Given the description of an element on the screen output the (x, y) to click on. 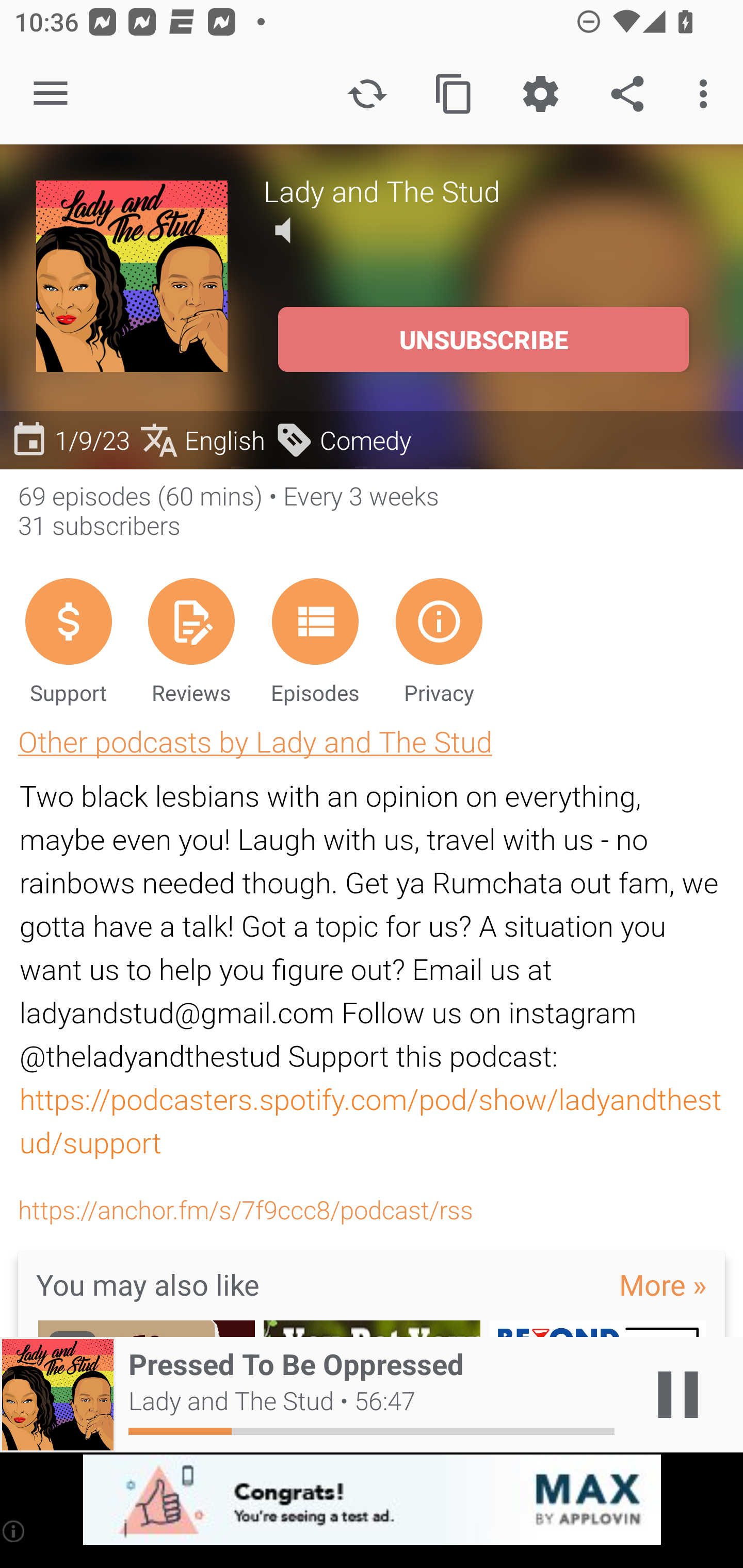
Open navigation sidebar (50, 93)
Refresh podcast description (366, 93)
Copy feed url to clipboard (453, 93)
Custom Settings (540, 93)
Share the podcast (626, 93)
More options (706, 93)
Lady and The Stud (484, 190)
UNSUBSCRIBE (482, 339)
Comedy (342, 439)
Support (68, 640)
Reviews (191, 640)
Episodes (314, 640)
Privacy (438, 640)
Other podcasts by Lady and The Stud (254, 740)
More » (662, 1284)
Play / Pause (677, 1394)
app-monetization (371, 1500)
(i) (14, 1531)
